Given the description of an element on the screen output the (x, y) to click on. 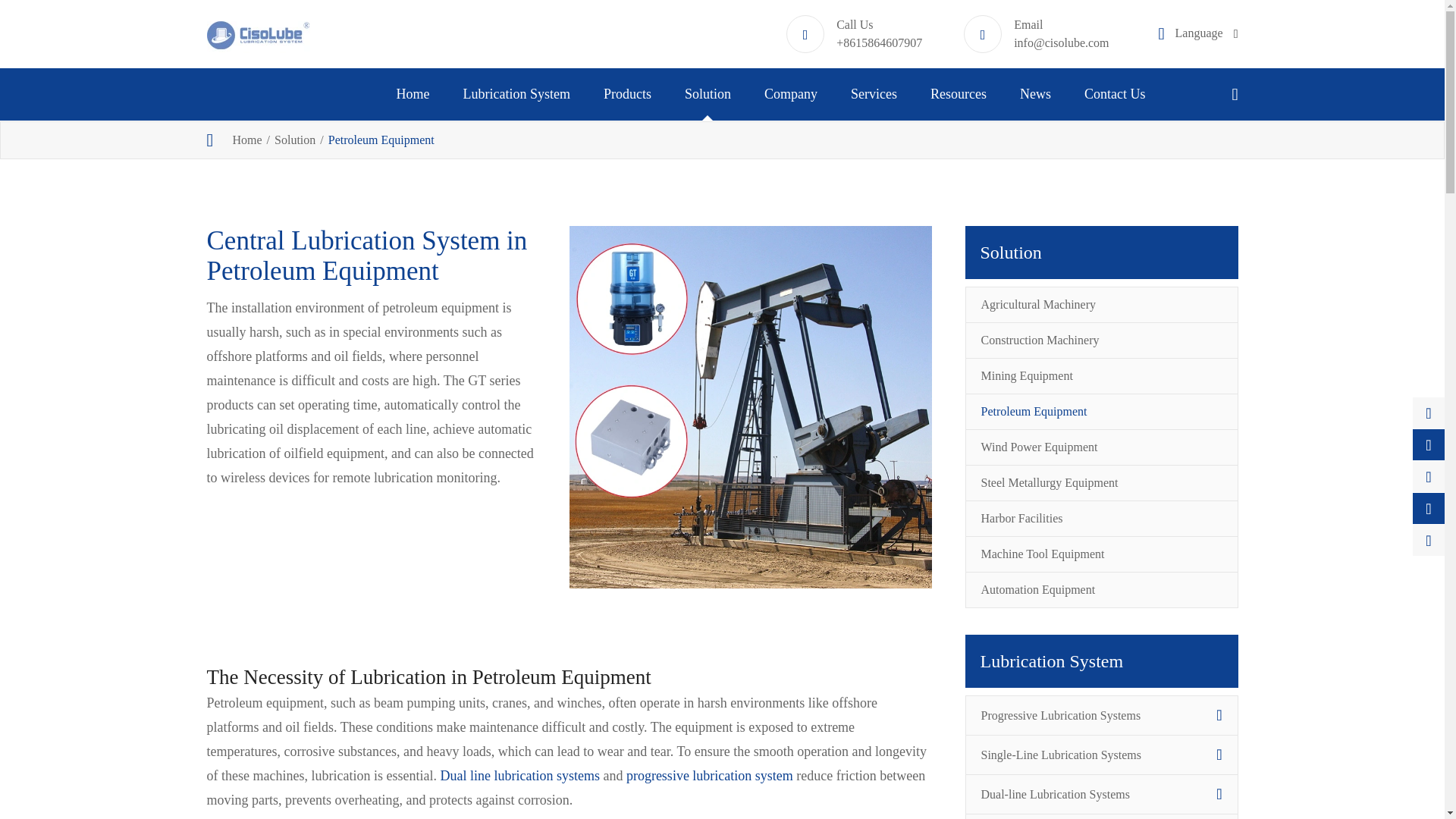
Home (412, 93)
Lubrication System (516, 93)
Products (627, 93)
Company (790, 93)
Agricultural Machinery (767, 137)
Solution (707, 93)
Yantai Ciso Lubrication Technology Co., Ltd. (257, 34)
Lubrication Pumps (696, 137)
